Given the description of an element on the screen output the (x, y) to click on. 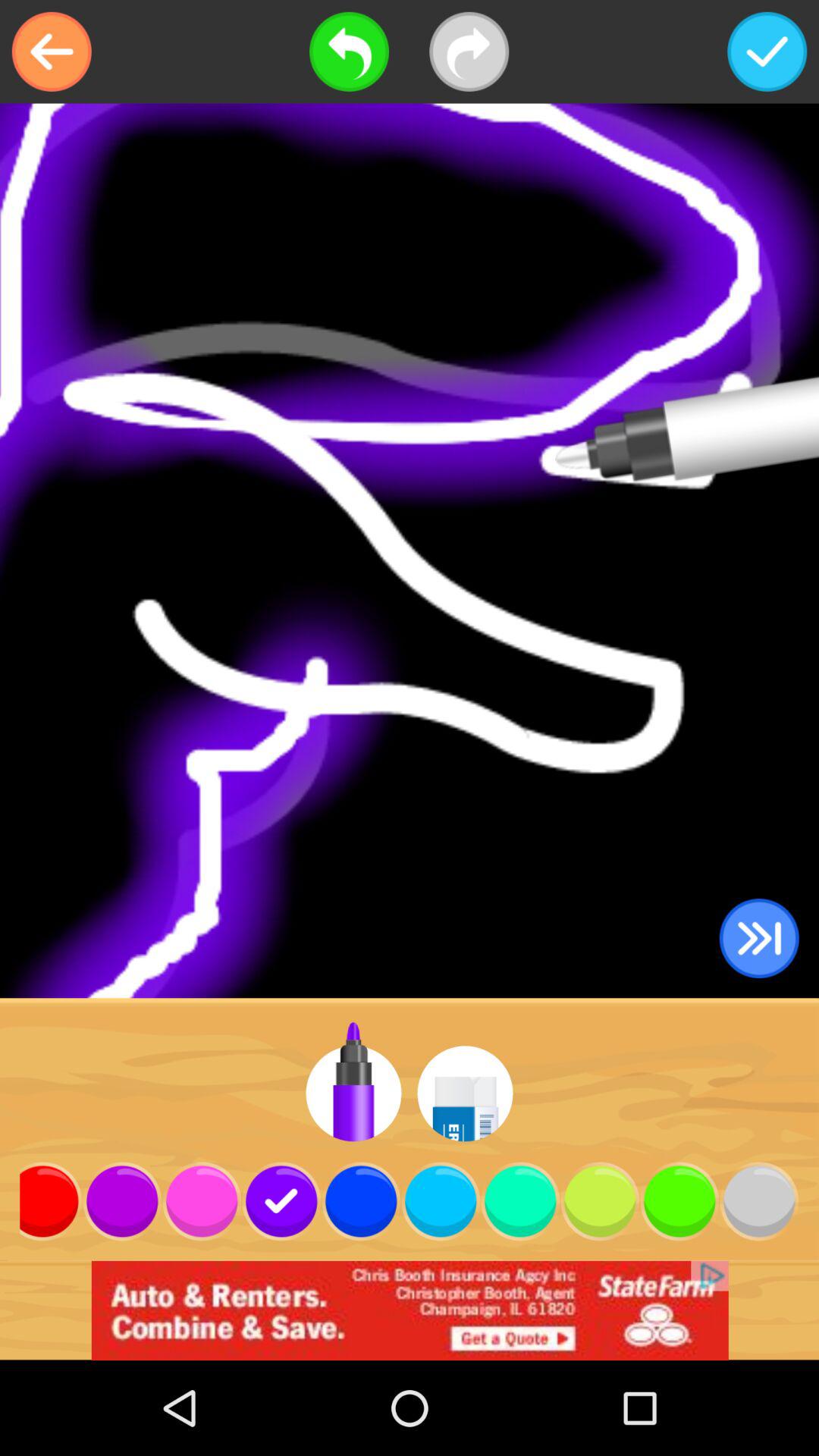
go back (349, 51)
